Given the description of an element on the screen output the (x, y) to click on. 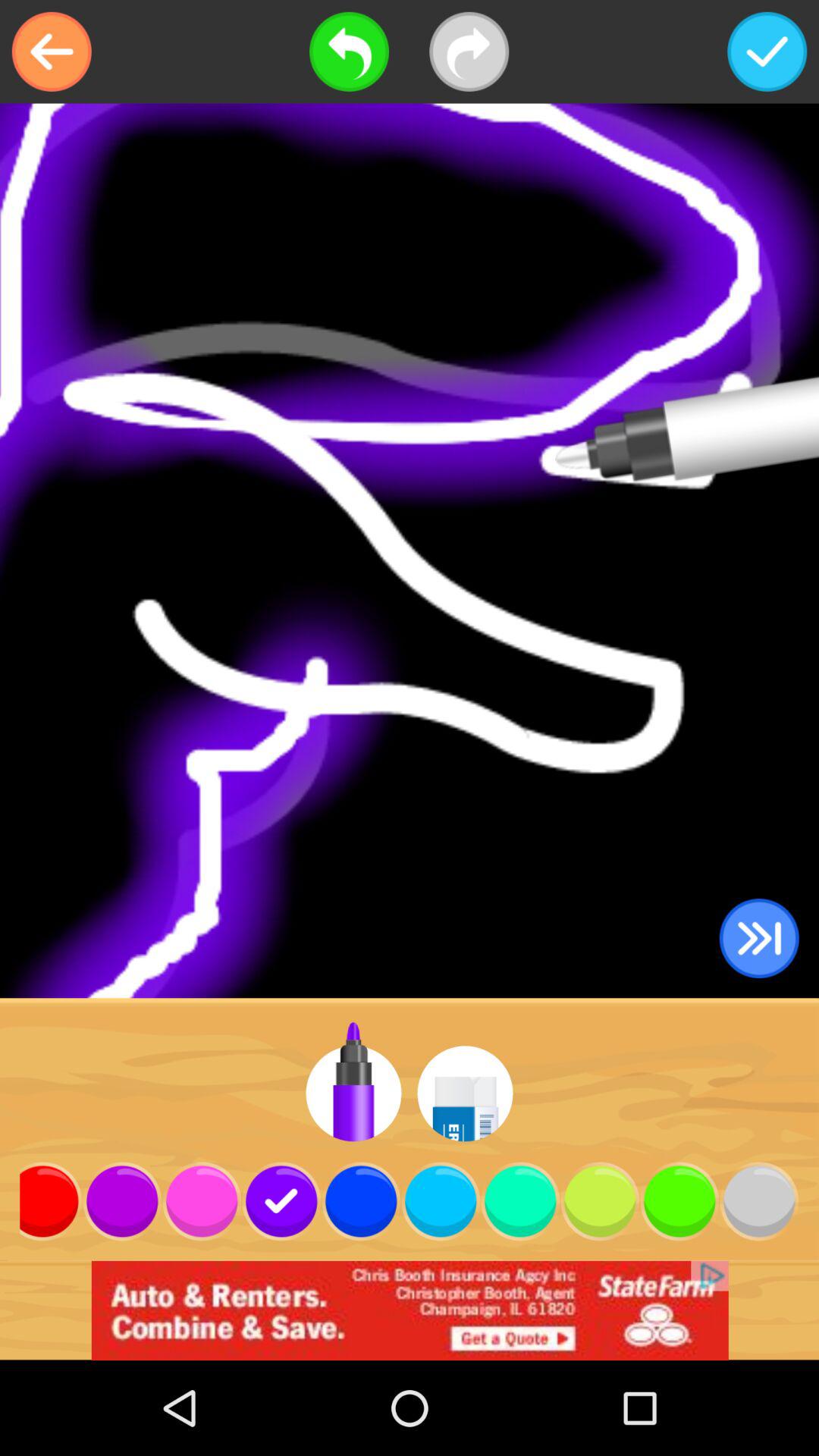
go back (349, 51)
